Given the description of an element on the screen output the (x, y) to click on. 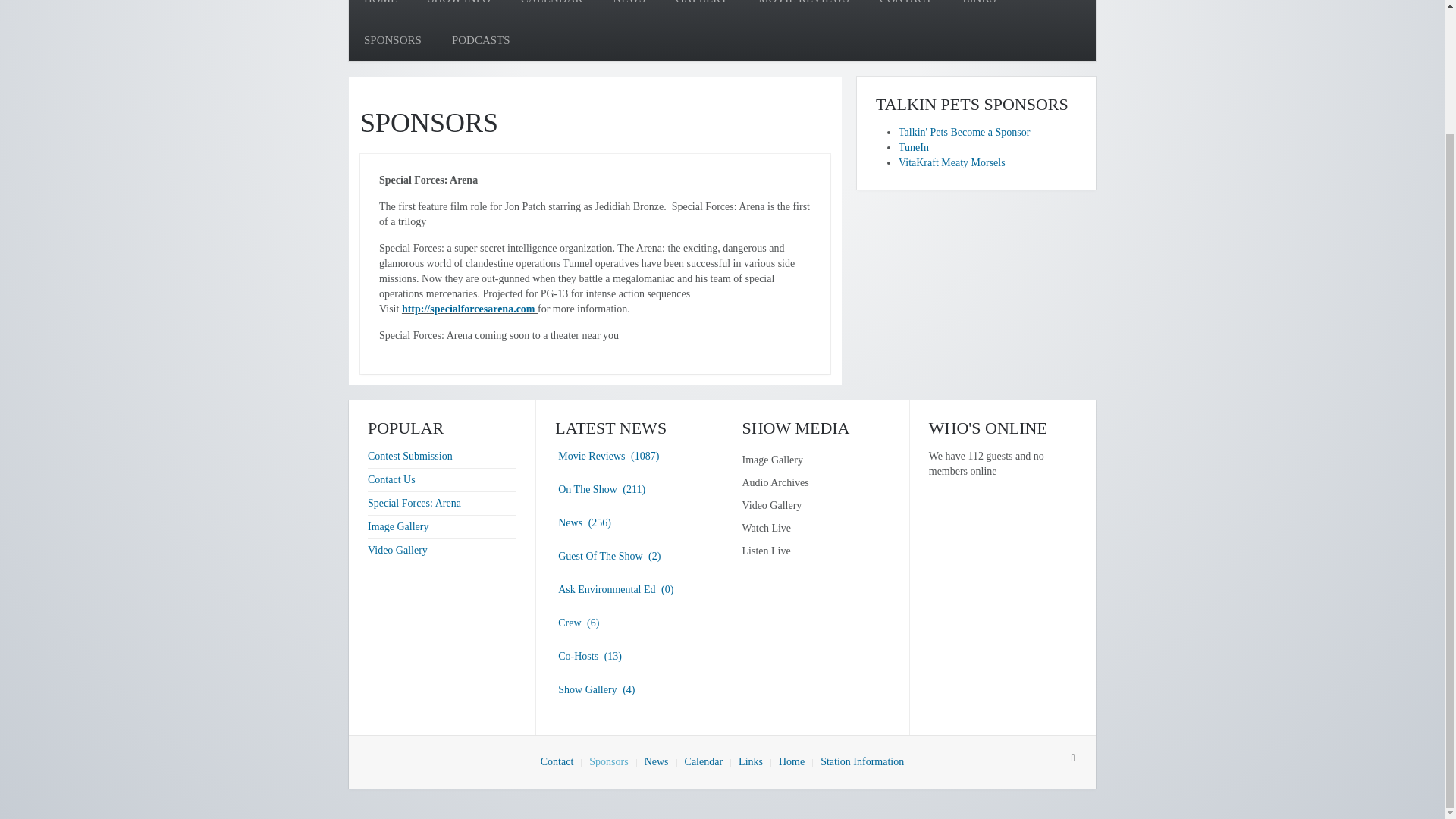
NEWS (628, 9)
SPONSORS (392, 40)
Contact Us (391, 479)
CONTACT (905, 9)
HOME (380, 9)
Video Gallery (398, 550)
SHOW INFO (458, 9)
VitaKraft Meaty Morsels (952, 162)
LINKS (978, 9)
Talkin' Pets Become a Sponsor (963, 132)
